Given the description of an element on the screen output the (x, y) to click on. 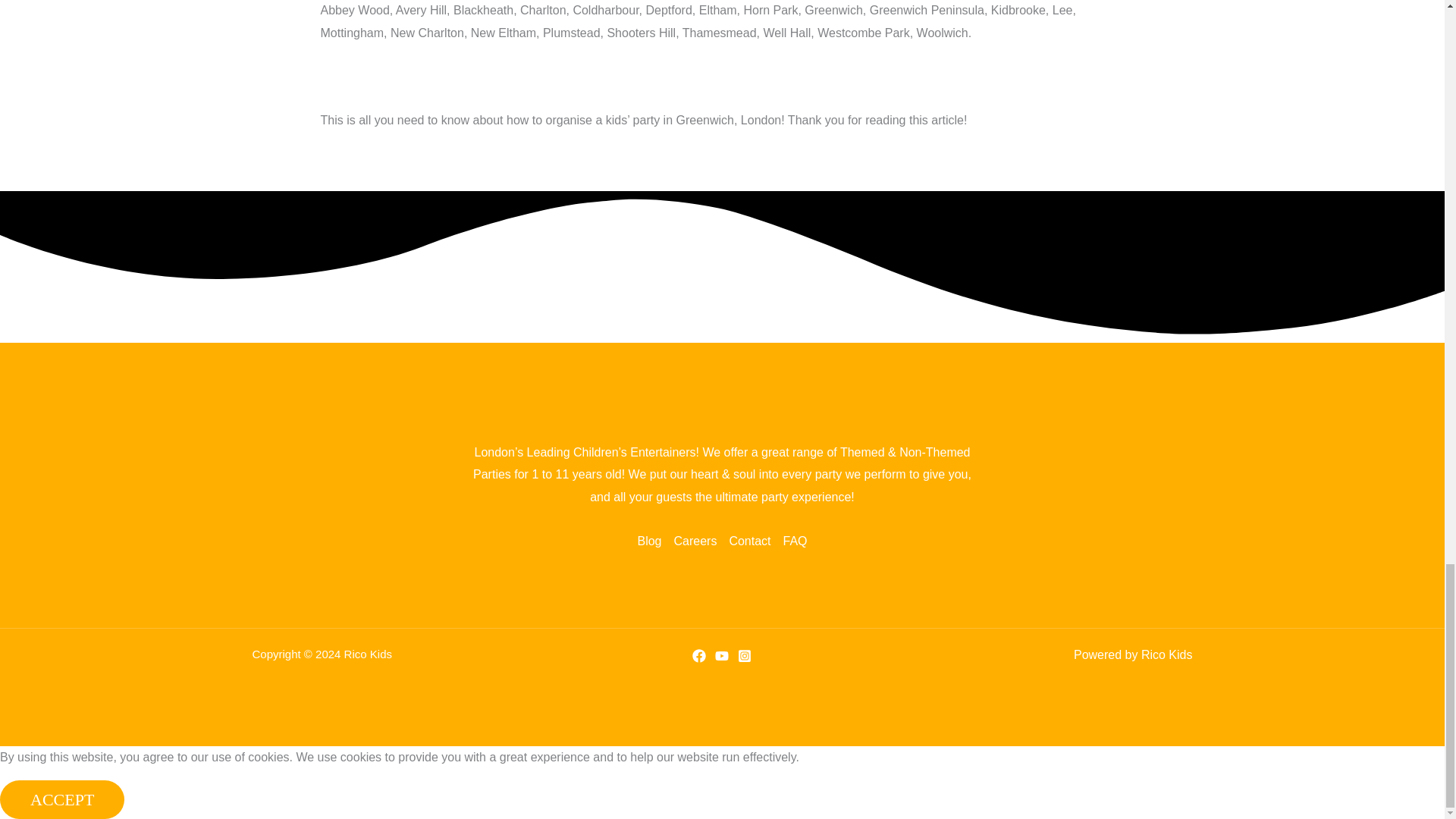
Careers (694, 540)
FAQ (792, 540)
Blog (651, 540)
Contact (749, 540)
